Given the description of an element on the screen output the (x, y) to click on. 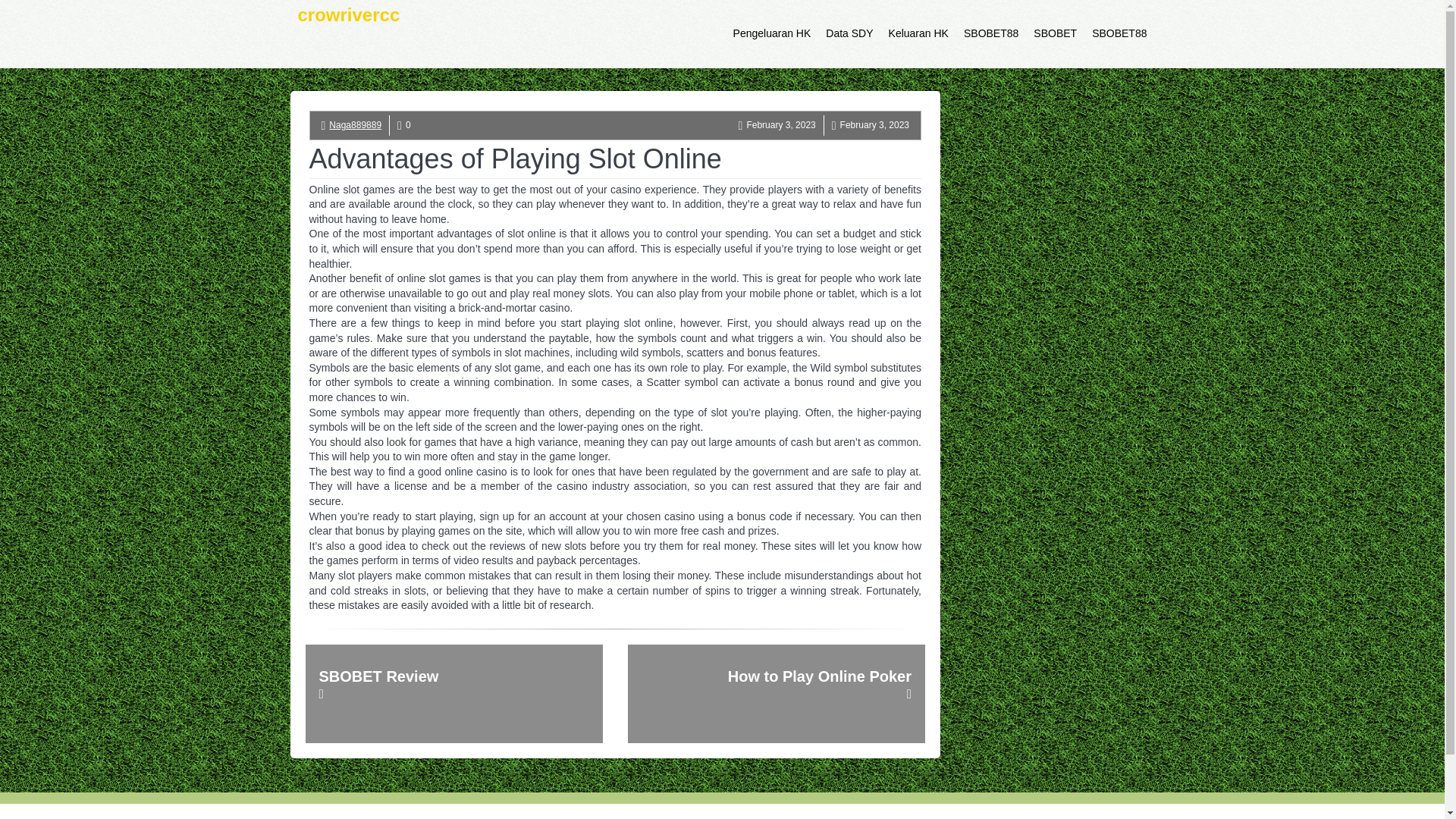
SBOBET Review (453, 693)
SBOBET88 (991, 33)
SBOBET88 (1119, 33)
Pengeluaran HK (771, 33)
Naga889889 (355, 124)
Data SDY (849, 33)
Keluaran HK (918, 33)
SBOBET (1055, 33)
How to Play Online Poker (775, 693)
SBOBET88 (991, 33)
Keluaran HK (918, 33)
Pengeluaran HK (771, 33)
crowrivercc (348, 33)
SBOBET88 (1119, 33)
SBOBET (1055, 33)
